Given the description of an element on the screen output the (x, y) to click on. 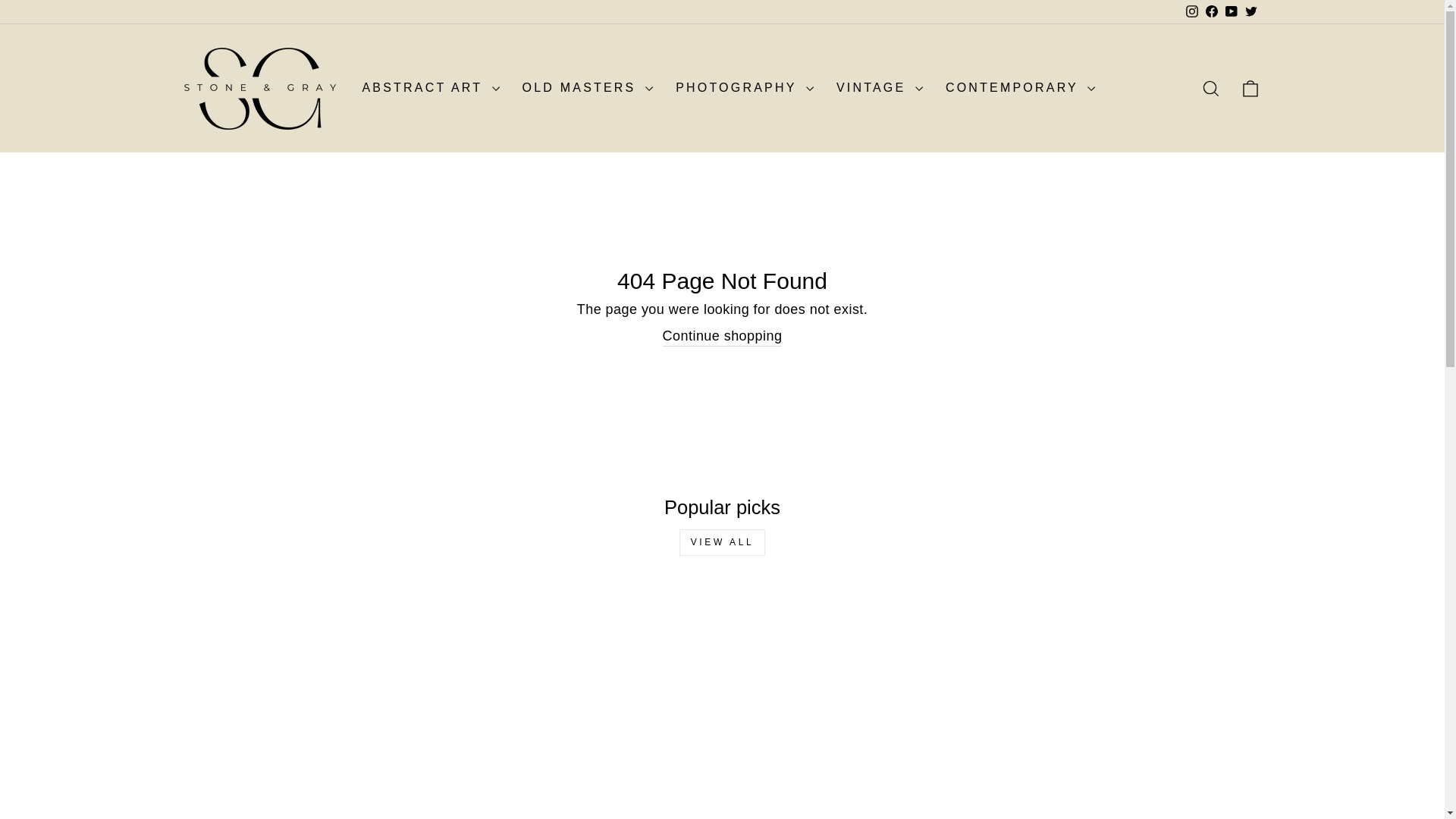
Stone and Gray on Facebook (1211, 11)
instagram (1192, 10)
Stone and Gray on YouTube (1230, 11)
Stone and Gray on Instagram (1190, 11)
twitter (1250, 10)
ICON-BAG-MINIMAL (1249, 88)
ICON-SEARCH (1210, 88)
Stone and Gray on Twitter (1250, 11)
